Given the description of an element on the screen output the (x, y) to click on. 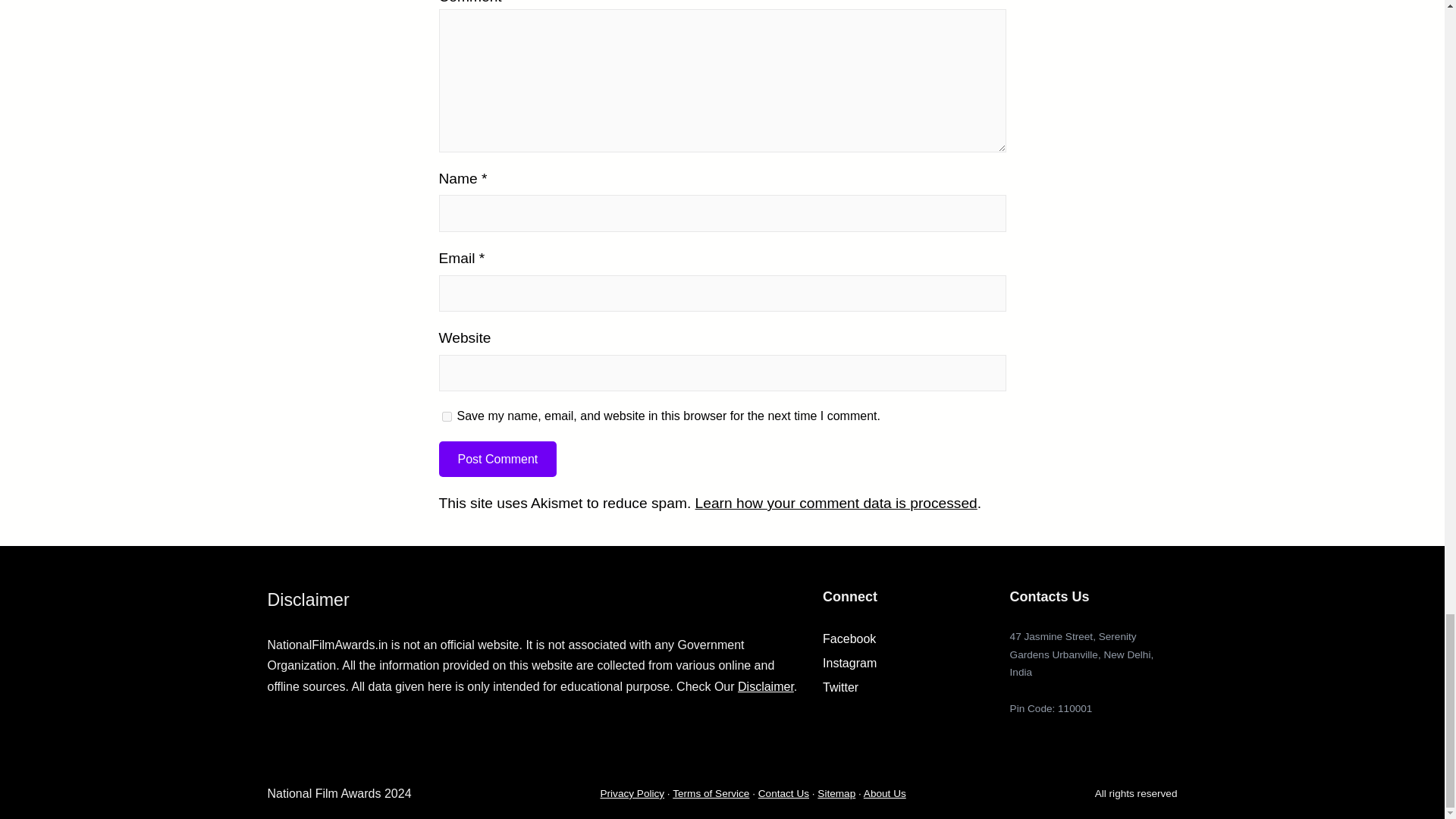
Post Comment (497, 458)
Terms of Service (710, 793)
yes (446, 416)
Facebook (849, 638)
Disclaimer (765, 686)
Instagram (849, 662)
Contact Us (783, 793)
About Us (884, 793)
Privacy Policy (631, 793)
Post Comment (497, 458)
Sitemap (836, 793)
Learn how your comment data is processed (835, 503)
Twitter (840, 686)
